Given the description of an element on the screen output the (x, y) to click on. 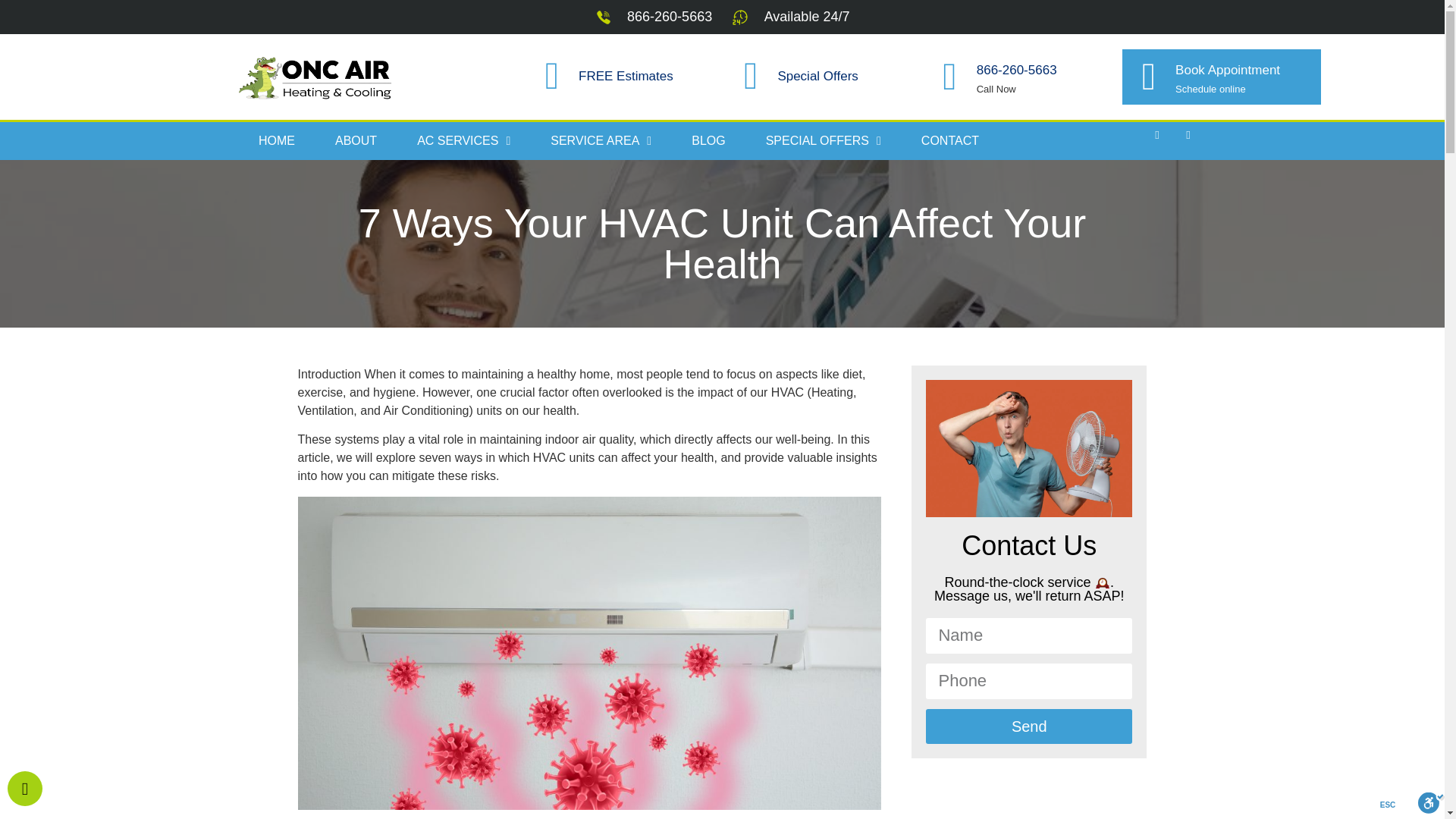
Special Offers (817, 75)
Book Appointment (1226, 69)
FREE Estimates (625, 75)
866-260-5663 (1016, 69)
